Given the description of an element on the screen output the (x, y) to click on. 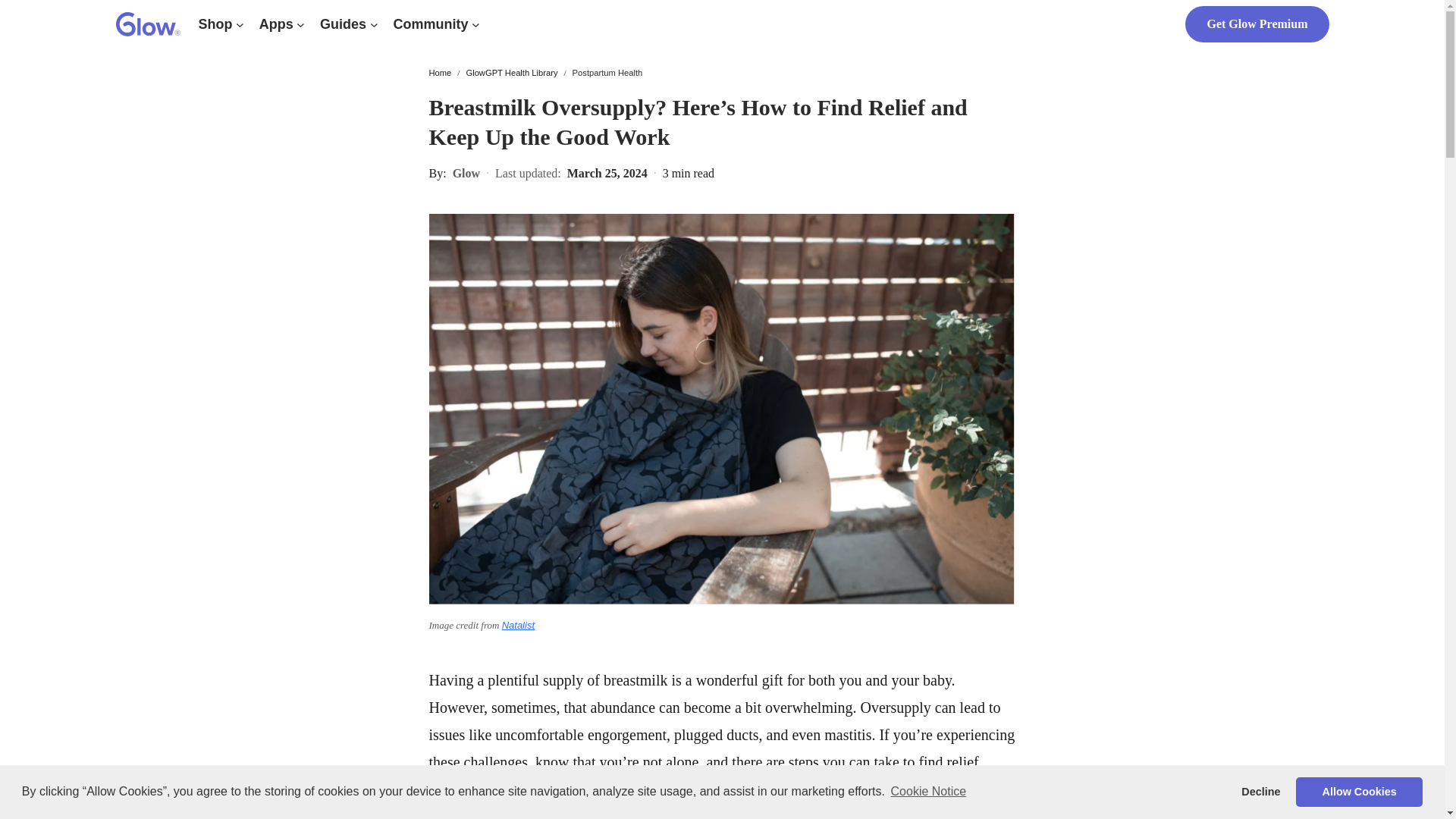
Cookie Notice (928, 791)
Shop (215, 24)
Allow Cookies (1358, 791)
Apps (276, 24)
Guides (343, 24)
Glow Shop (215, 24)
Decline (1260, 791)
